Given the description of an element on the screen output the (x, y) to click on. 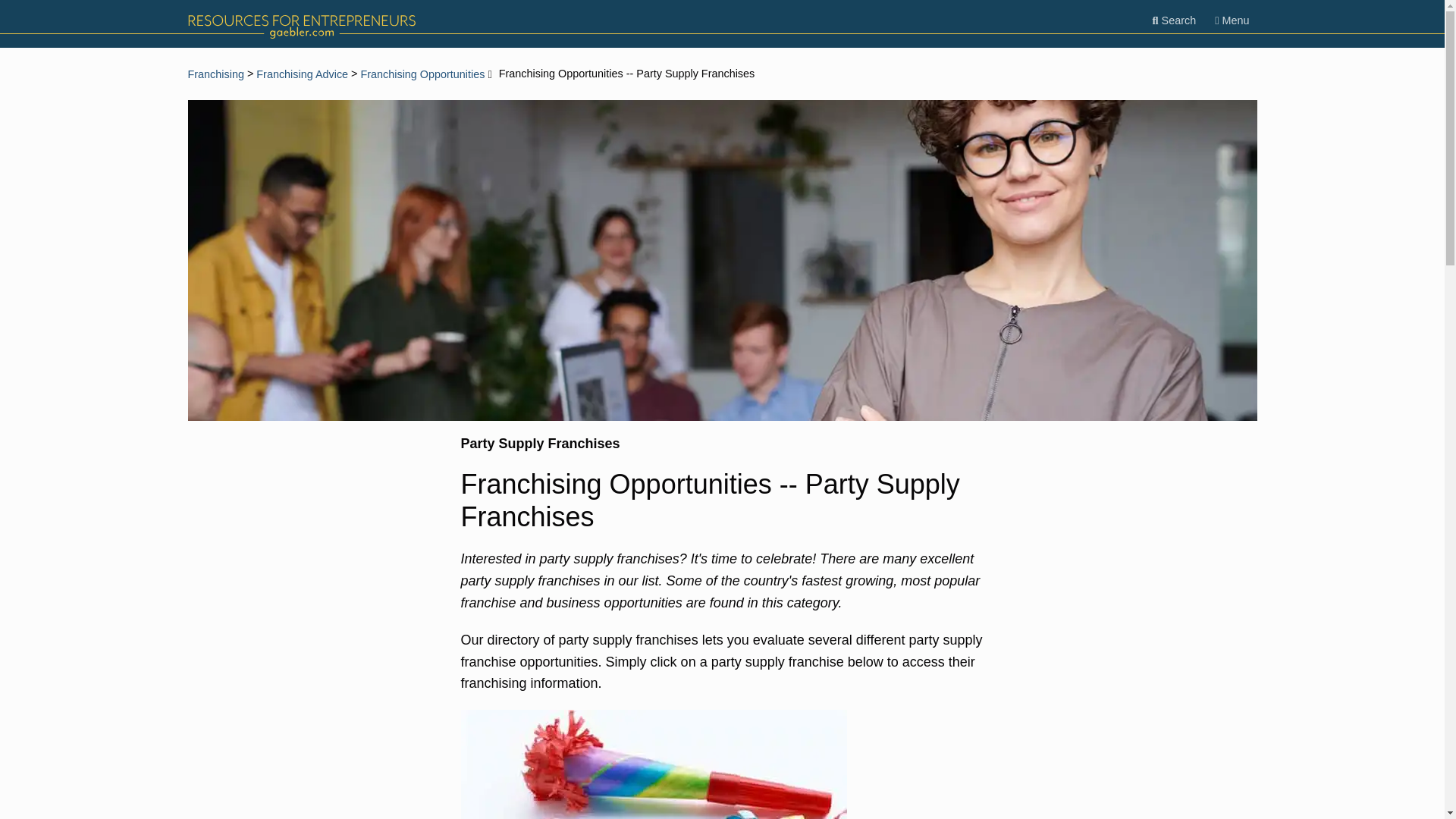
Menu (1231, 20)
Search (1174, 20)
